Given the description of an element on the screen output the (x, y) to click on. 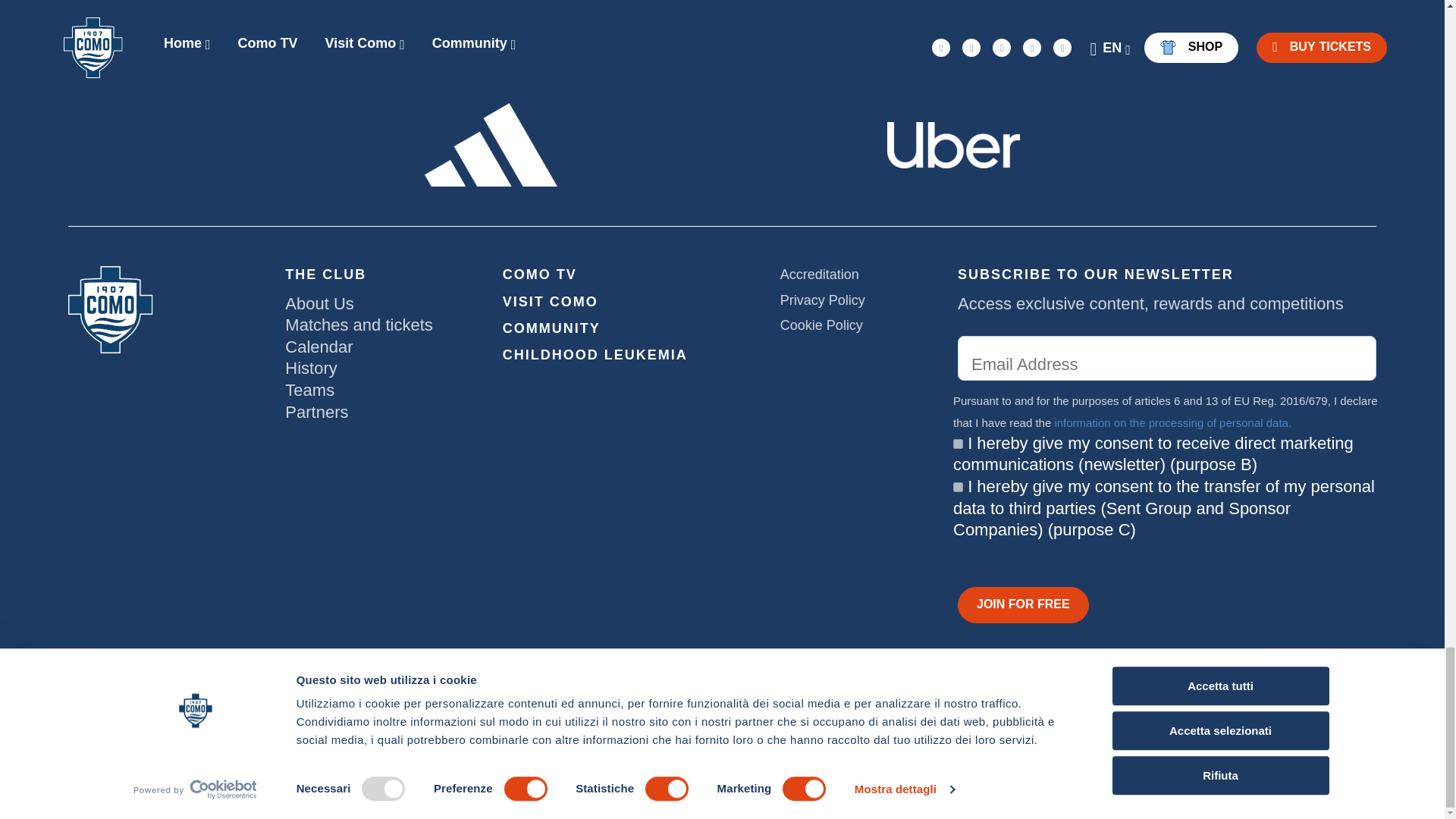
JOIN FOR FREE (1023, 605)
1 (957, 443)
1 (957, 487)
